Given the description of an element on the screen output the (x, y) to click on. 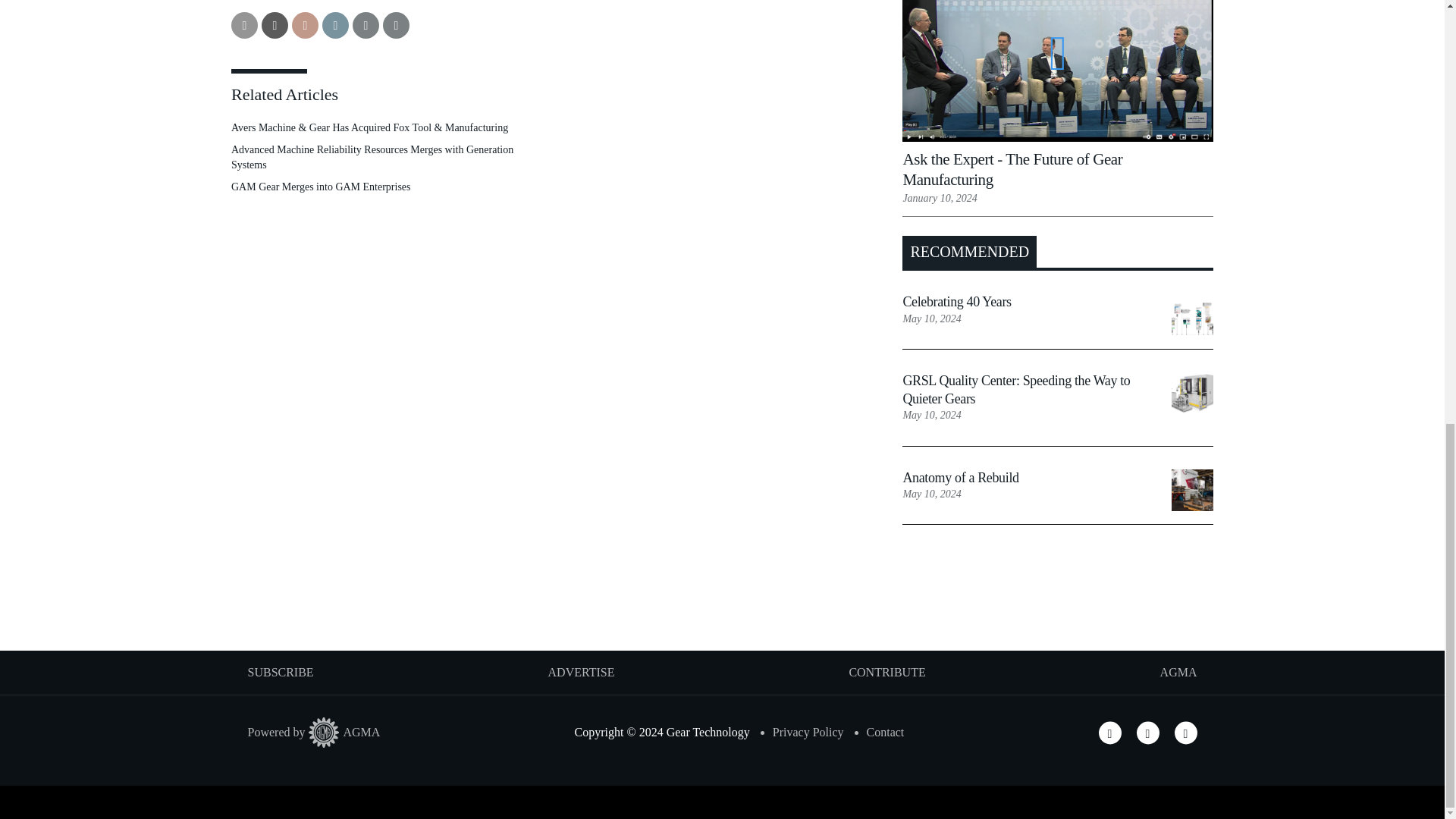
3rd party ad content (721, 601)
